Given the description of an element on the screen output the (x, y) to click on. 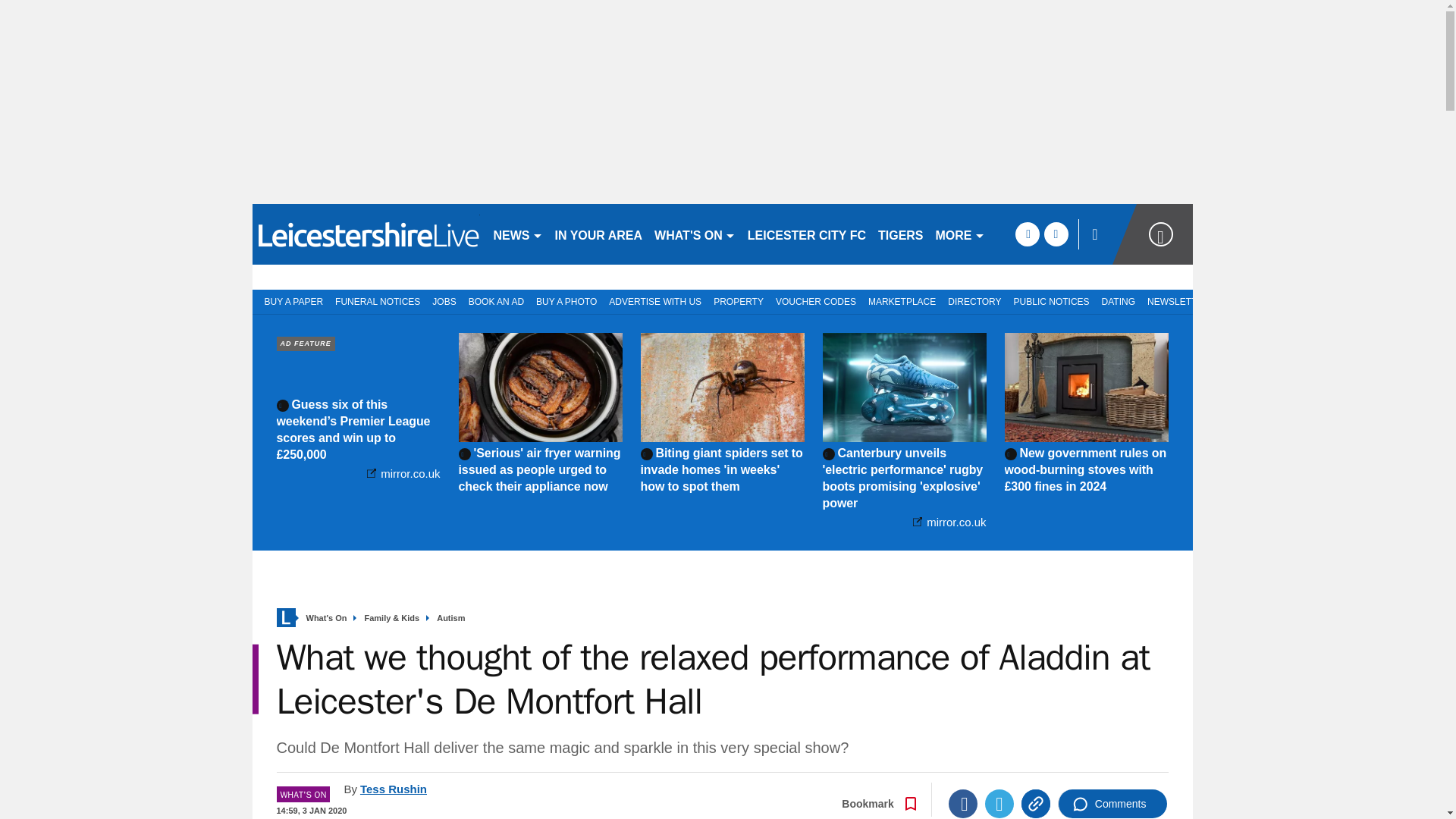
twitter (1055, 233)
WHAT'S ON (694, 233)
Comments (1112, 803)
TIGERS (901, 233)
MORE (960, 233)
NEWS (517, 233)
Facebook (962, 803)
facebook (1026, 233)
leicestermercury (365, 233)
Twitter (999, 803)
